Given the description of an element on the screen output the (x, y) to click on. 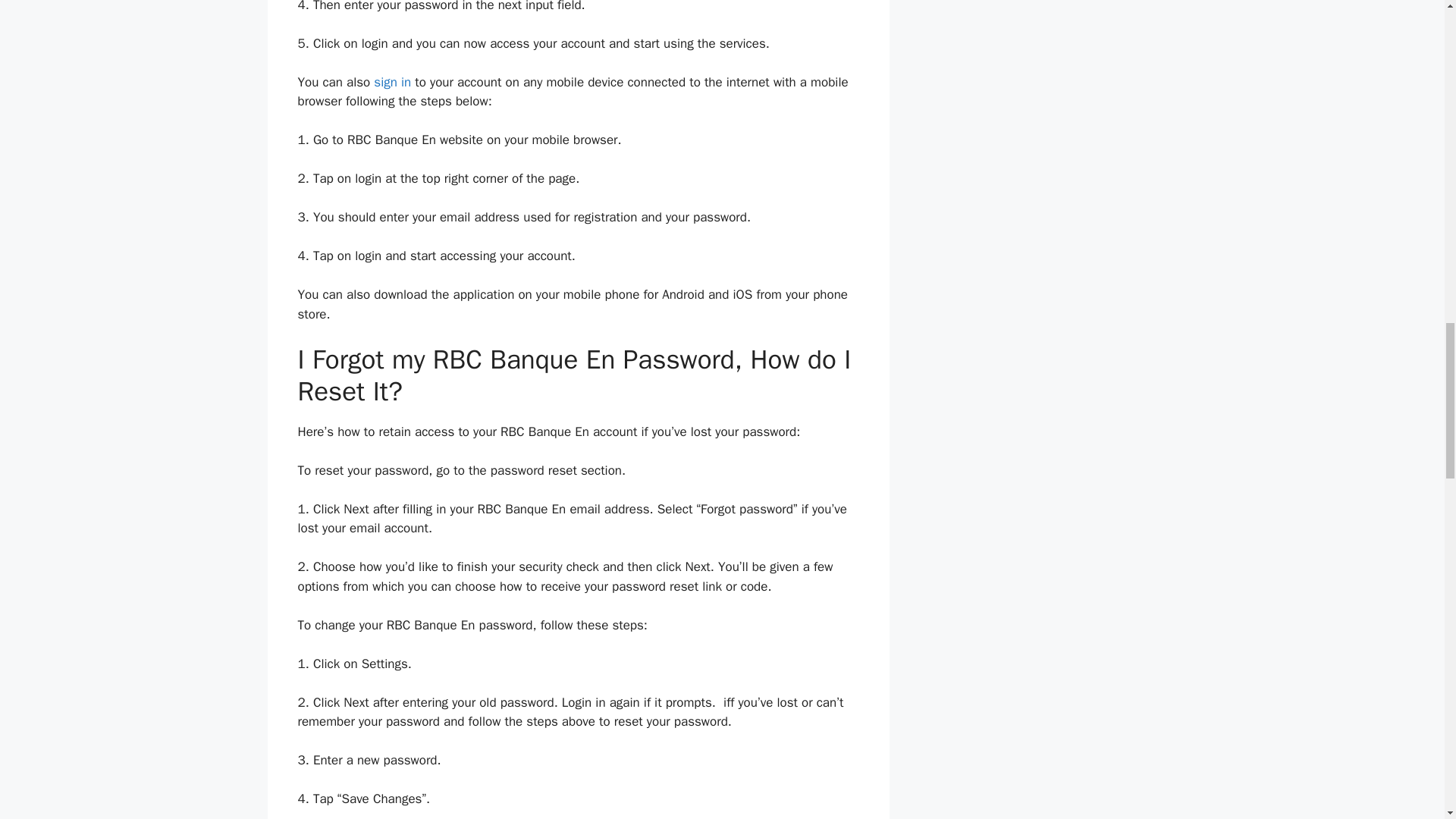
sign in (392, 82)
